Given the description of an element on the screen output the (x, y) to click on. 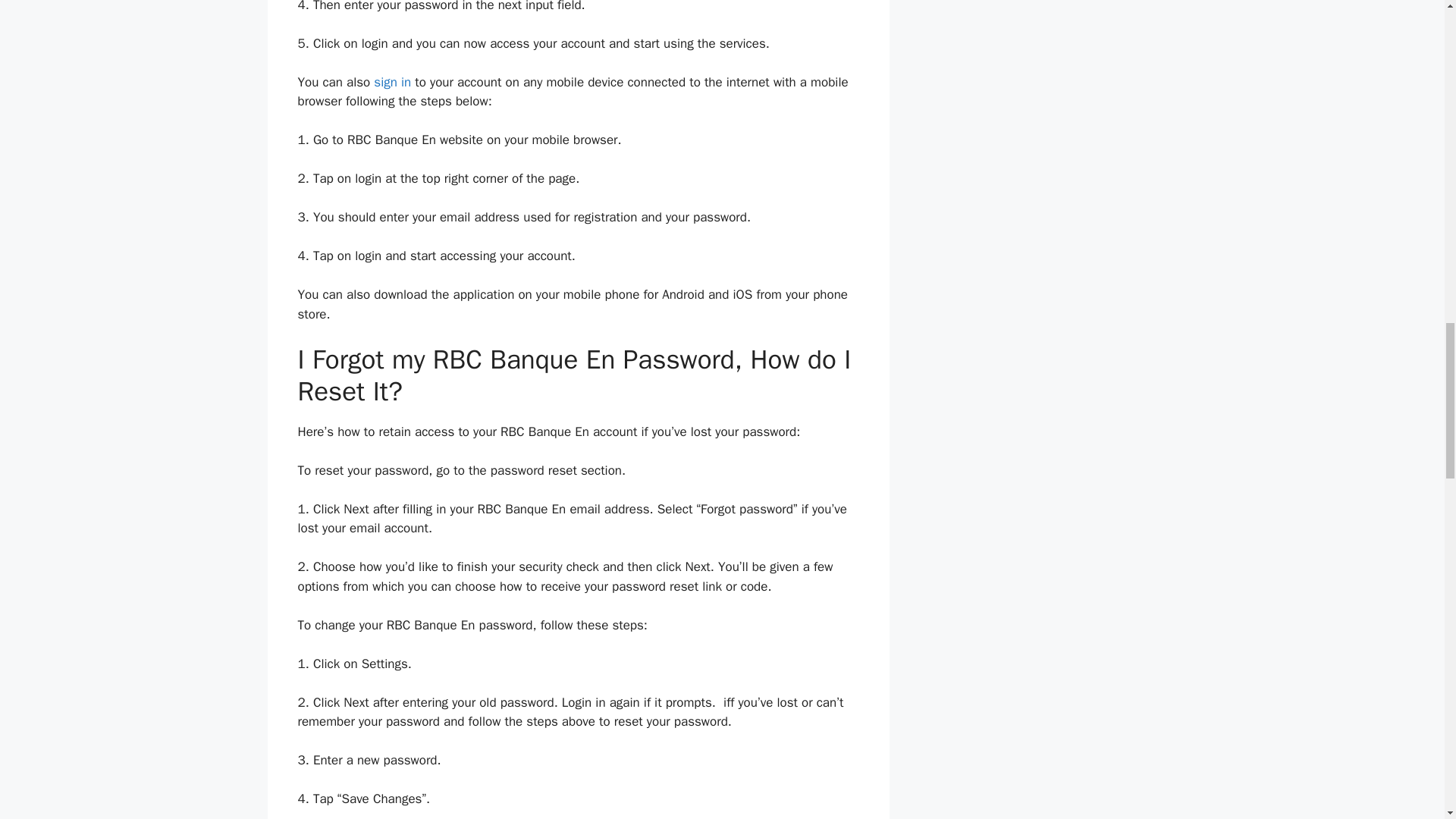
sign in (392, 82)
